Given the description of an element on the screen output the (x, y) to click on. 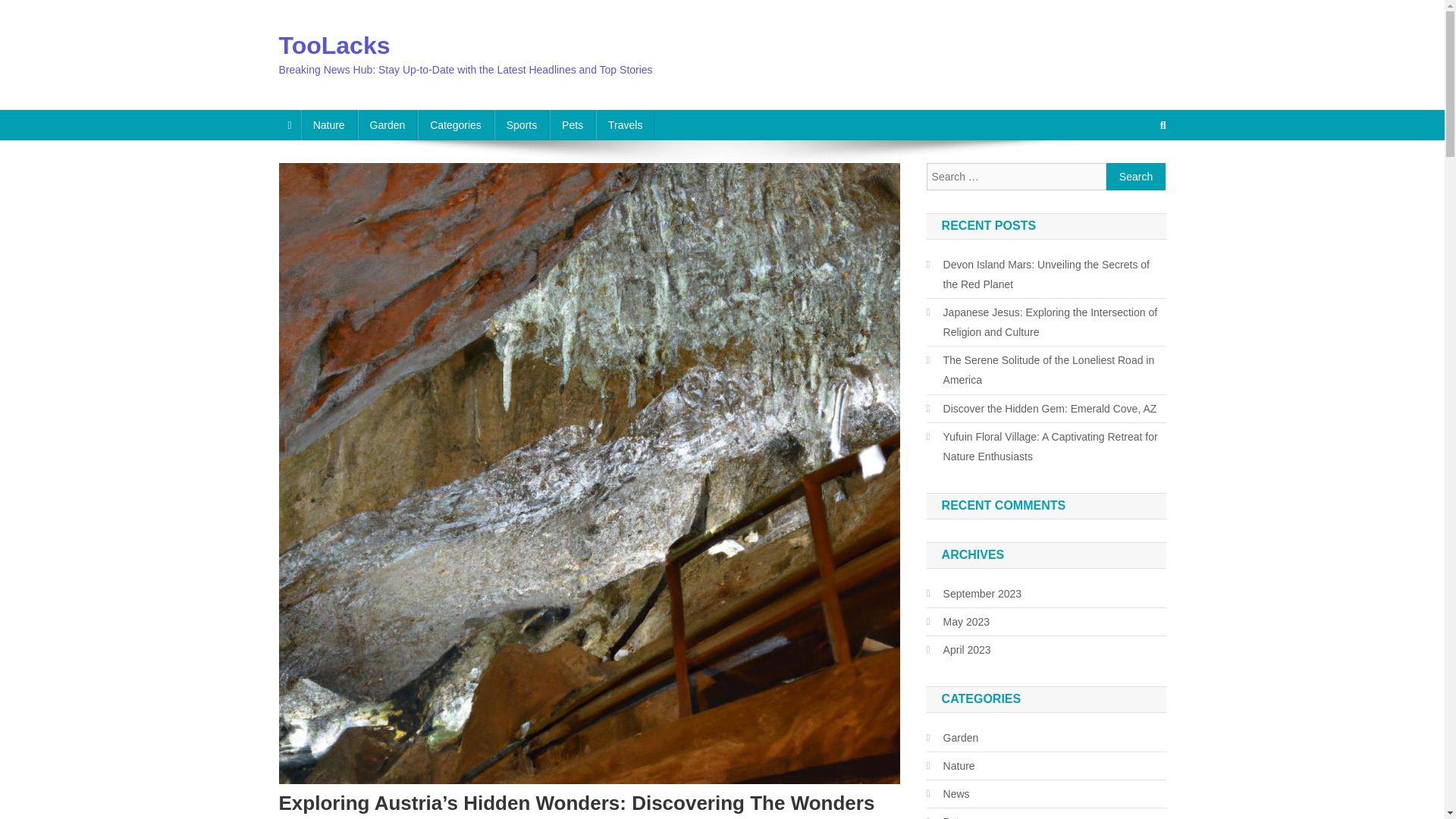
Search (1136, 176)
Sports (521, 124)
Garden (387, 124)
Pets (572, 124)
Categories (455, 124)
TooLacks (334, 44)
Search (1136, 176)
Discover the Hidden Gem: Emerald Cove, AZ (1041, 408)
Search (1136, 176)
The Serene Solitude of the Loneliest Road in America (1046, 369)
Travels (624, 124)
Search (1133, 175)
Devon Island Mars: Unveiling the Secrets of the Red Planet (1046, 274)
